Given the description of an element on the screen output the (x, y) to click on. 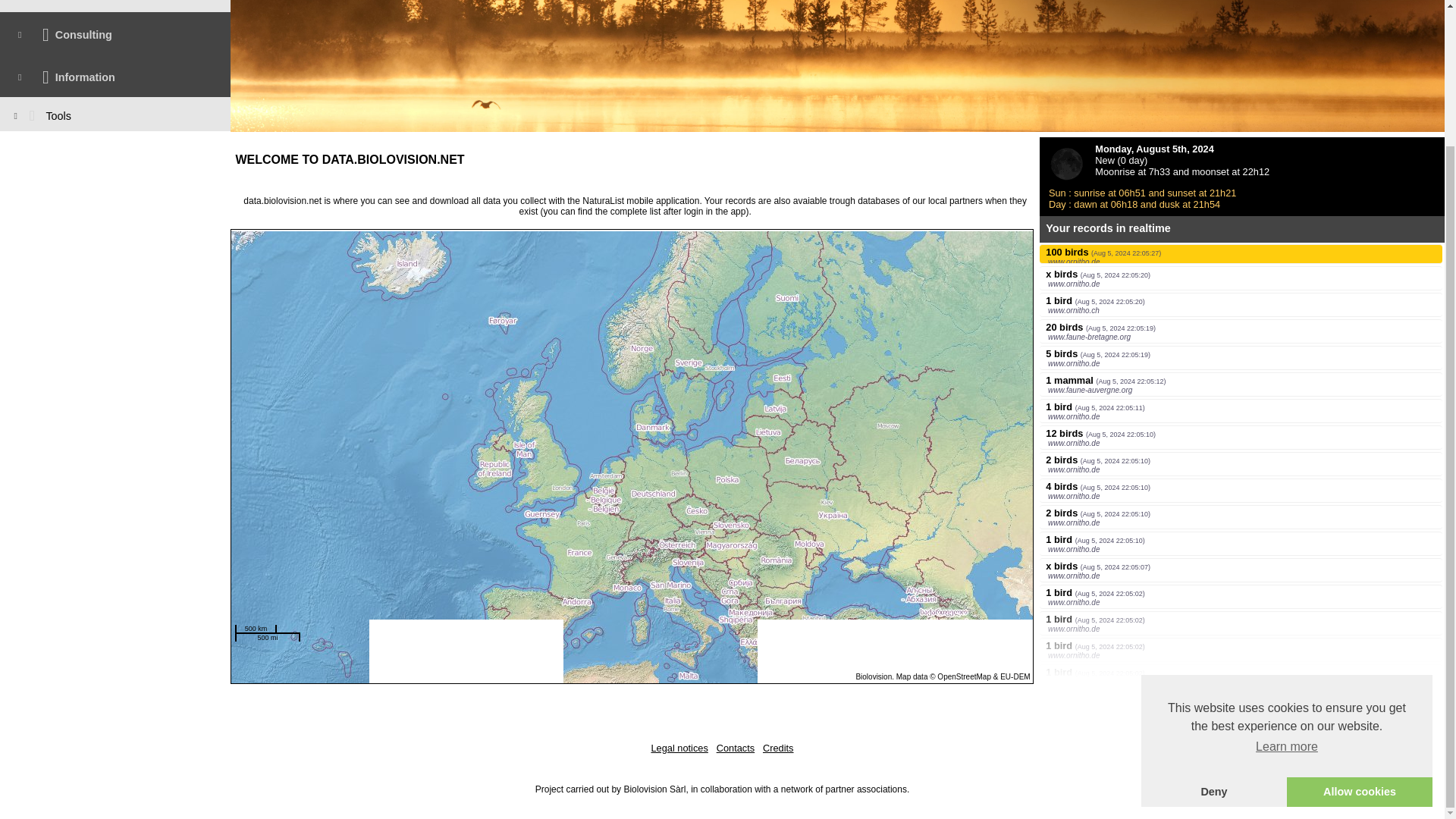
Allow cookies (1359, 624)
Contacts (735, 747)
Learn more (1286, 579)
Credits (777, 747)
Legal notices (678, 747)
Deny (1214, 624)
